Given the description of an element on the screen output the (x, y) to click on. 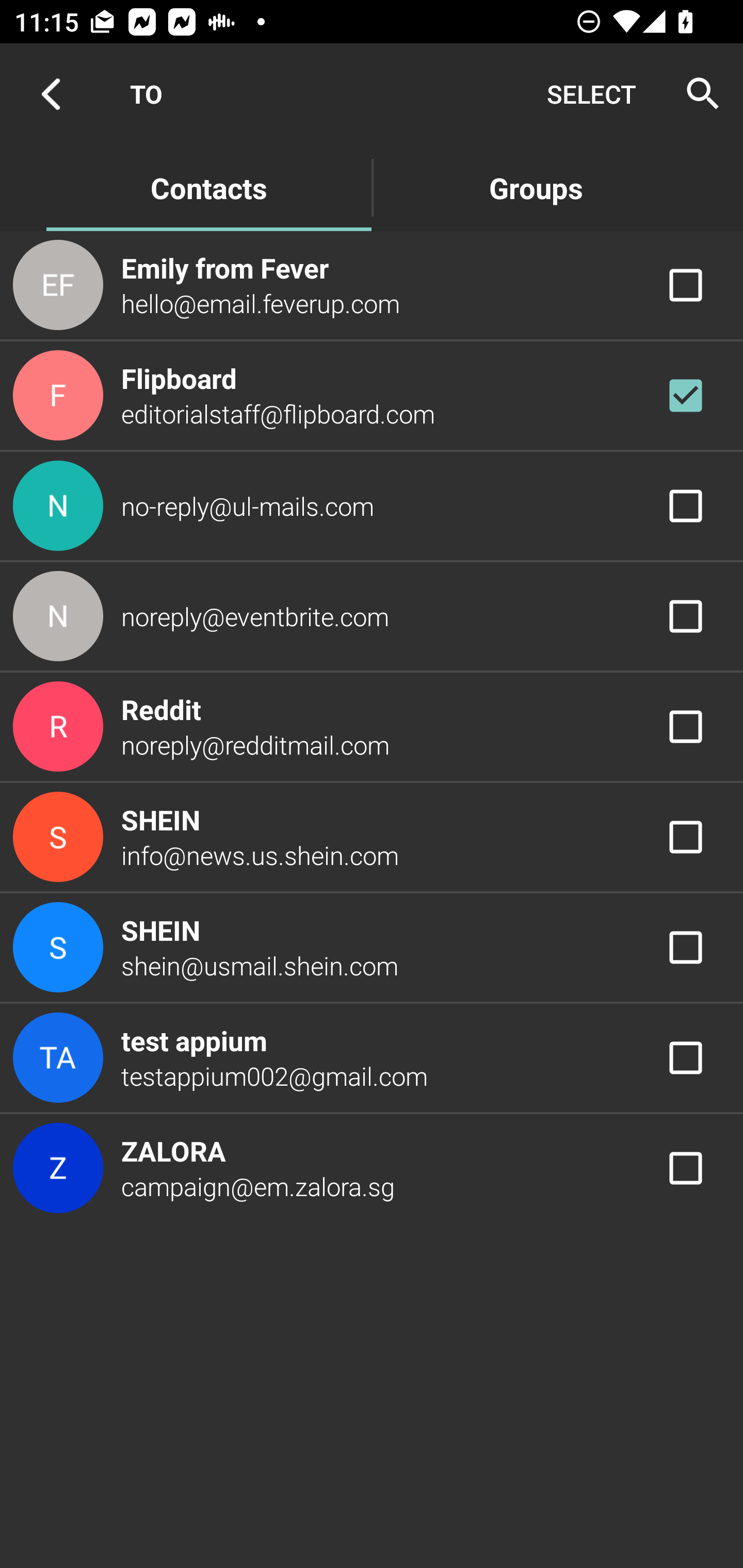
Navigate up (50, 93)
SELECT (590, 93)
Search (696, 93)
Contacts (208, 187)
Groups (535, 187)
Emily from Fever hello@email.feverup.com (371, 284)
Flipboard editorialstaff@flipboard.com (371, 395)
no-reply@ul-mails.com (371, 505)
noreply@eventbrite.com (371, 616)
Reddit noreply@redditmail.com (371, 726)
SHEIN info@news.us.shein.com (371, 836)
SHEIN shein@usmail.shein.com (371, 947)
test appium testappium002@gmail.com (371, 1057)
ZALORA campaign@em.zalora.sg (371, 1168)
